Given the description of an element on the screen output the (x, y) to click on. 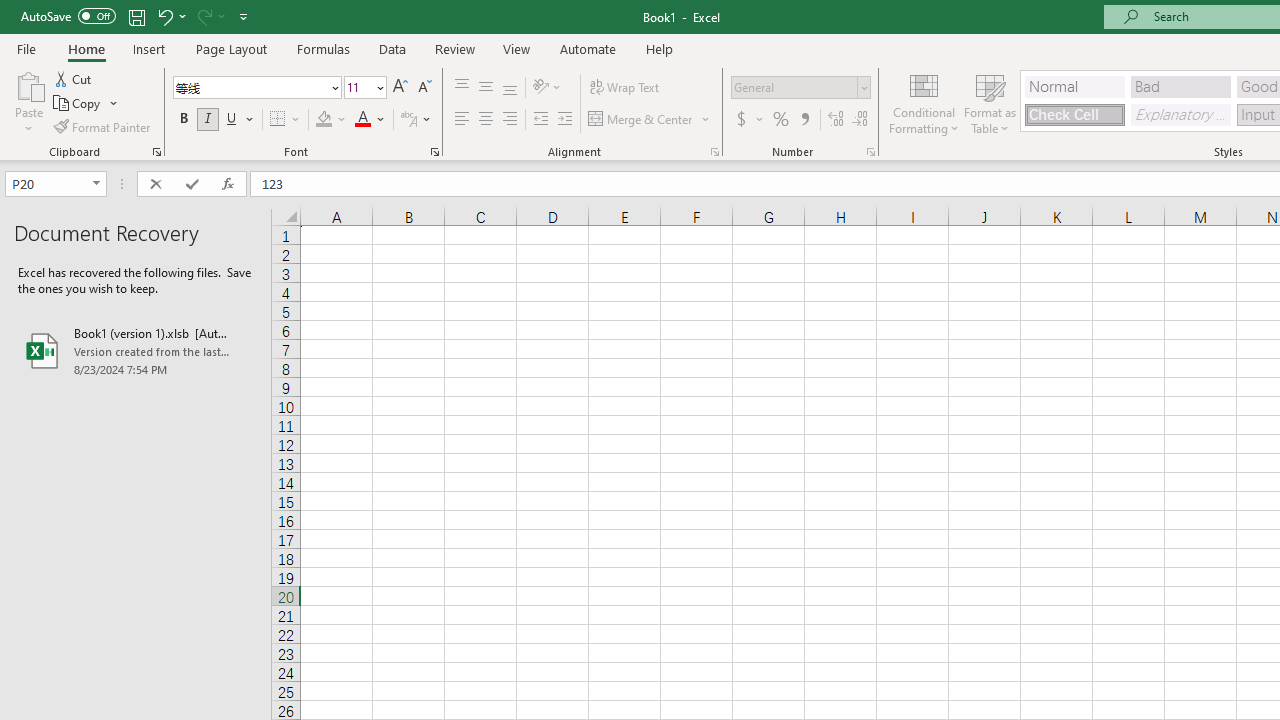
Format as Table (990, 102)
Bad (1180, 86)
Office Clipboard... (156, 151)
Align Left (461, 119)
Format Cell Number (870, 151)
Font Color RGB(255, 0, 0) (362, 119)
Font (256, 87)
Decrease Decimal (859, 119)
Comma Style (804, 119)
Decrease Font Size (424, 87)
